Given the description of an element on the screen output the (x, y) to click on. 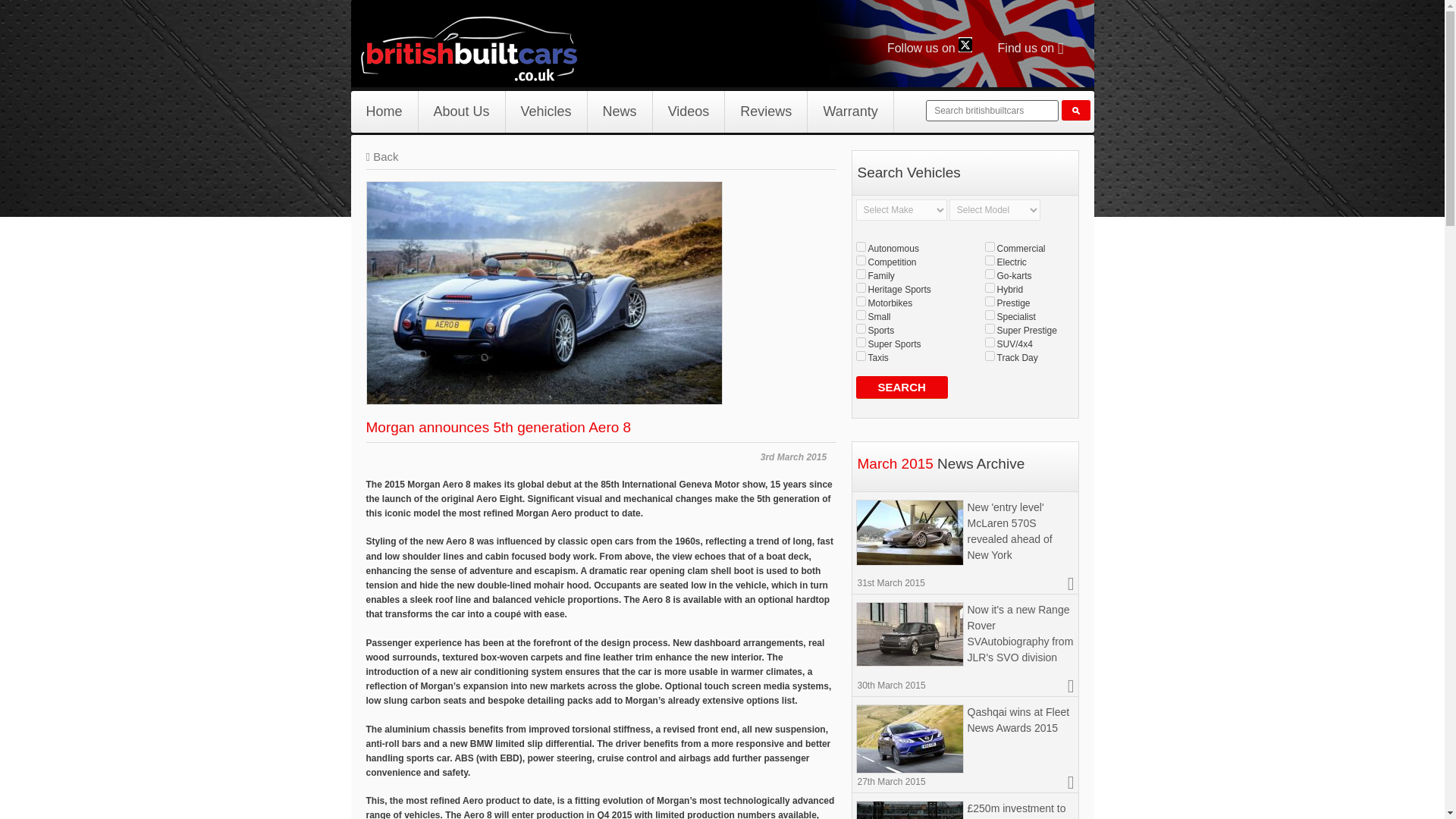
Home (383, 111)
14 (860, 356)
Vehicles (546, 111)
Follow us on (930, 47)
Find us on (1030, 47)
4 (860, 342)
News (620, 111)
5 (989, 328)
11 (860, 260)
Warranty (850, 111)
1 (989, 301)
Videos (688, 111)
Reviews (766, 111)
8 (989, 342)
24 (989, 246)
